Given the description of an element on the screen output the (x, y) to click on. 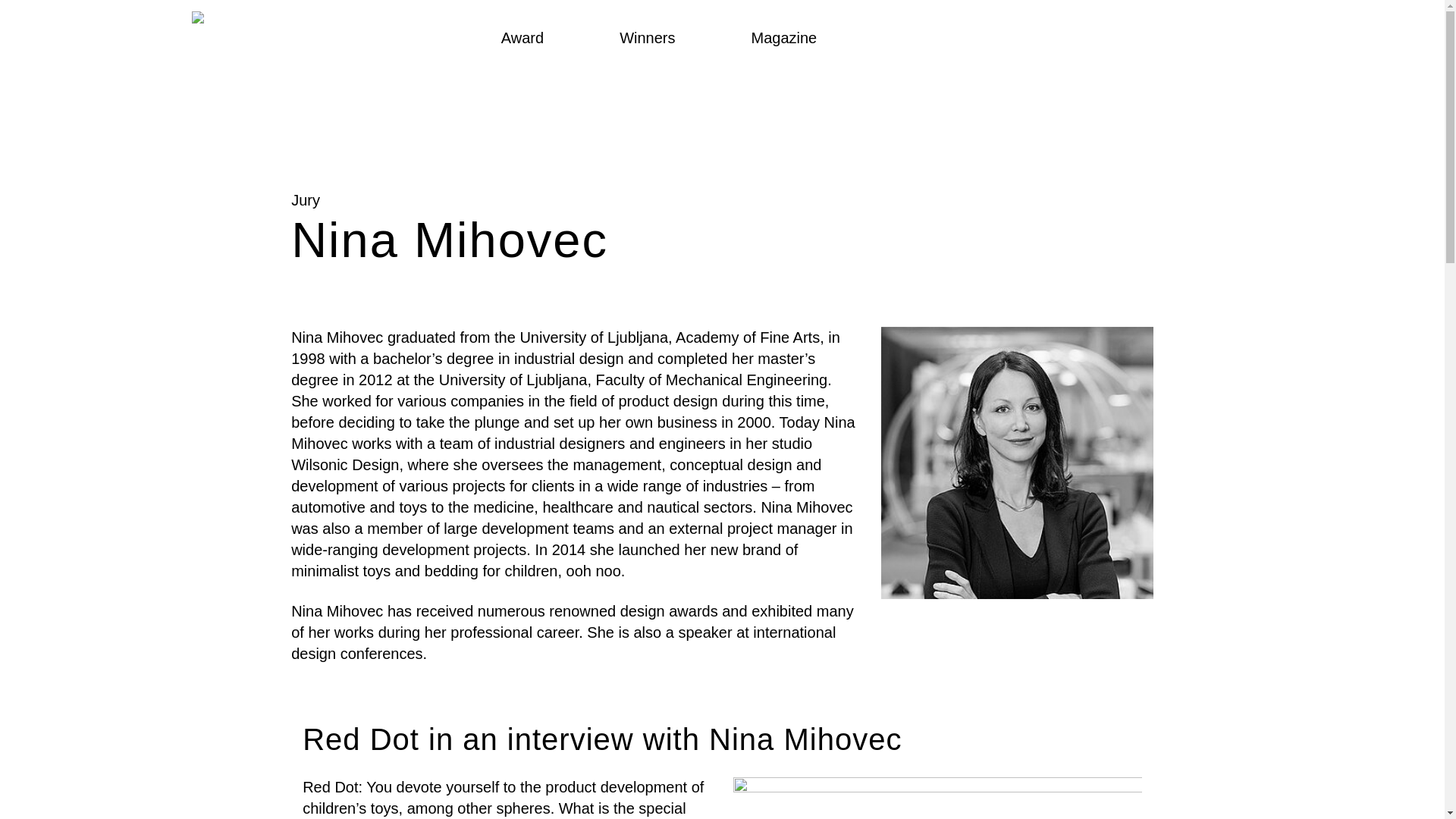
Nina Mihovec (1016, 462)
Magazine (783, 37)
Award (521, 37)
Winners (647, 37)
